Given the description of an element on the screen output the (x, y) to click on. 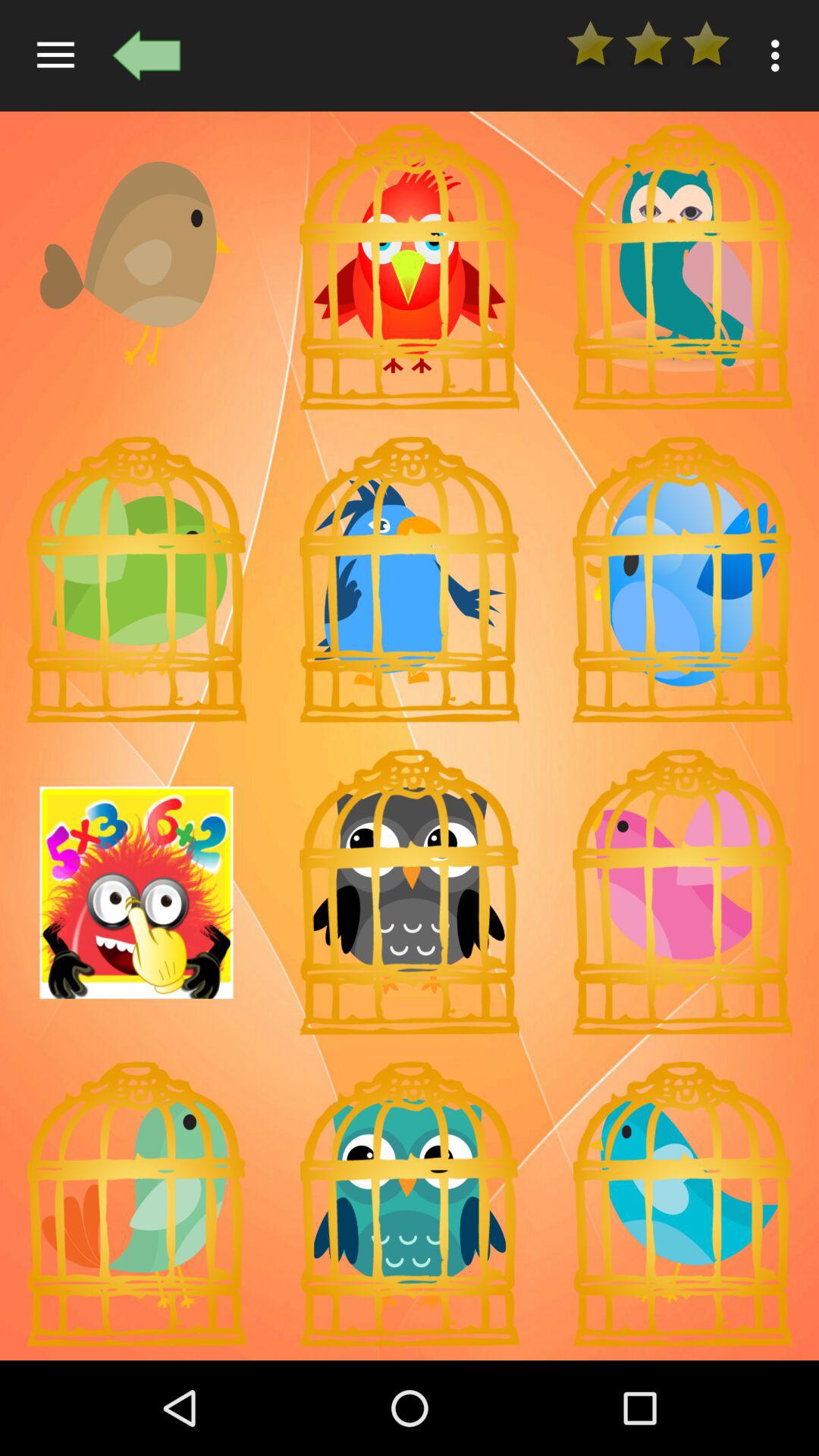
choose activity (136, 892)
